Given the description of an element on the screen output the (x, y) to click on. 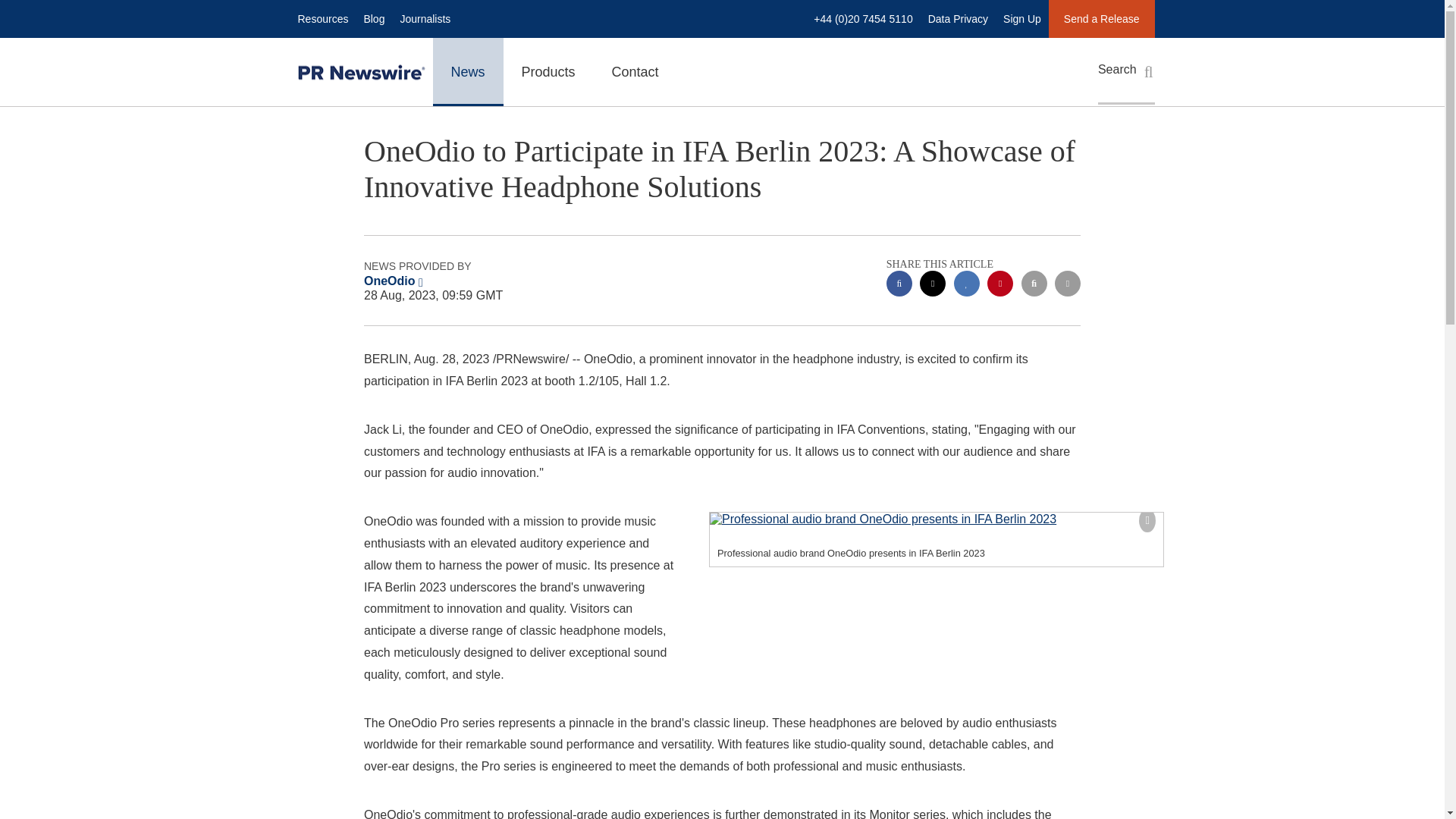
Sign Up (1021, 18)
Data Privacy (957, 18)
Blog (373, 18)
Resources (322, 18)
Contact (635, 71)
News (467, 71)
Journalists (424, 18)
Send a Release (1101, 18)
Products (548, 71)
